Given the description of an element on the screen output the (x, y) to click on. 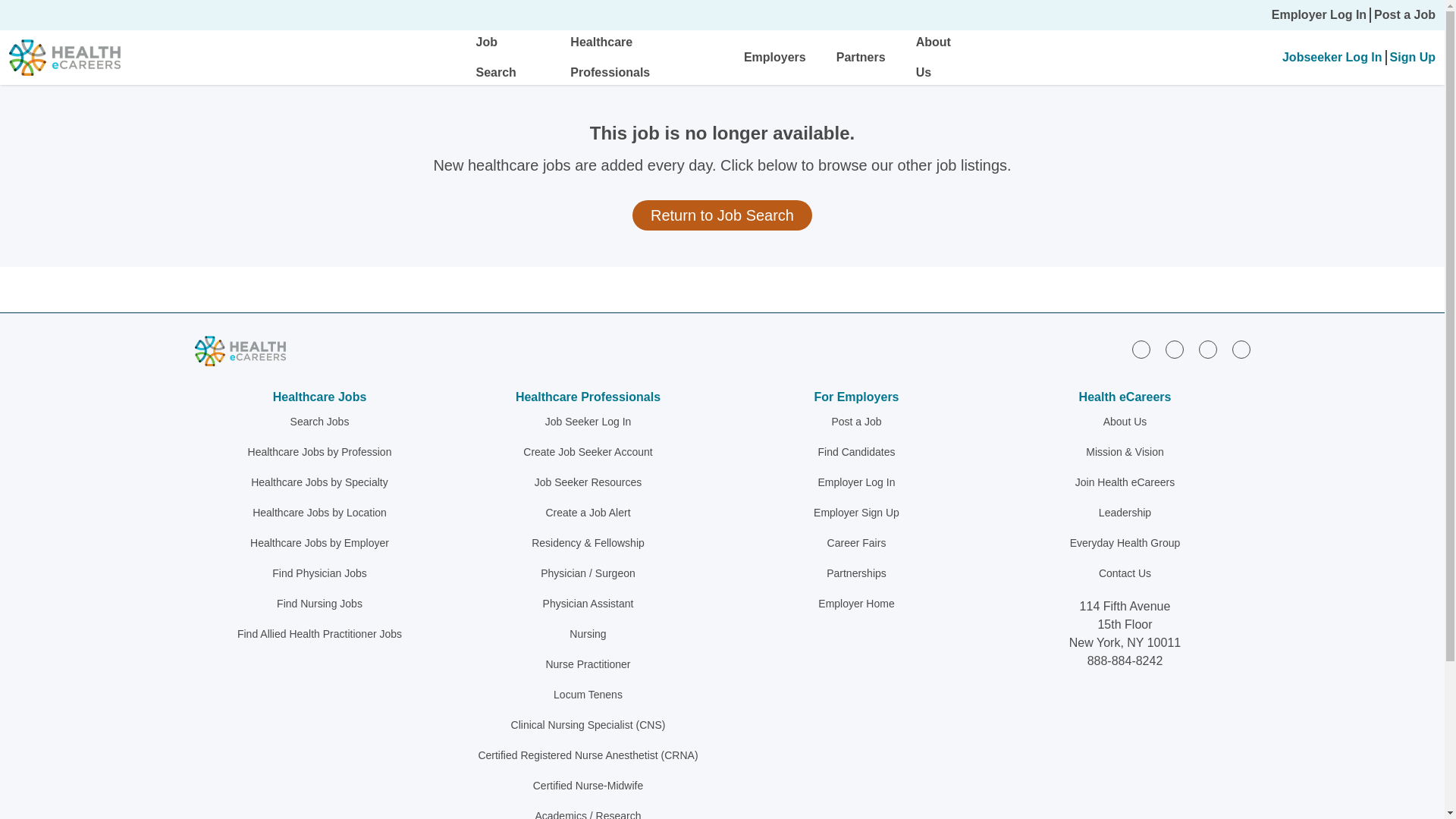
Job Search (496, 57)
Healthcare Professionals (609, 57)
facebook (1173, 349)
twitter (1206, 349)
linkedin (1140, 349)
Post a Job (1404, 14)
youtube (1240, 349)
Employers (775, 56)
Employer Log In (1319, 14)
